Given the description of an element on the screen output the (x, y) to click on. 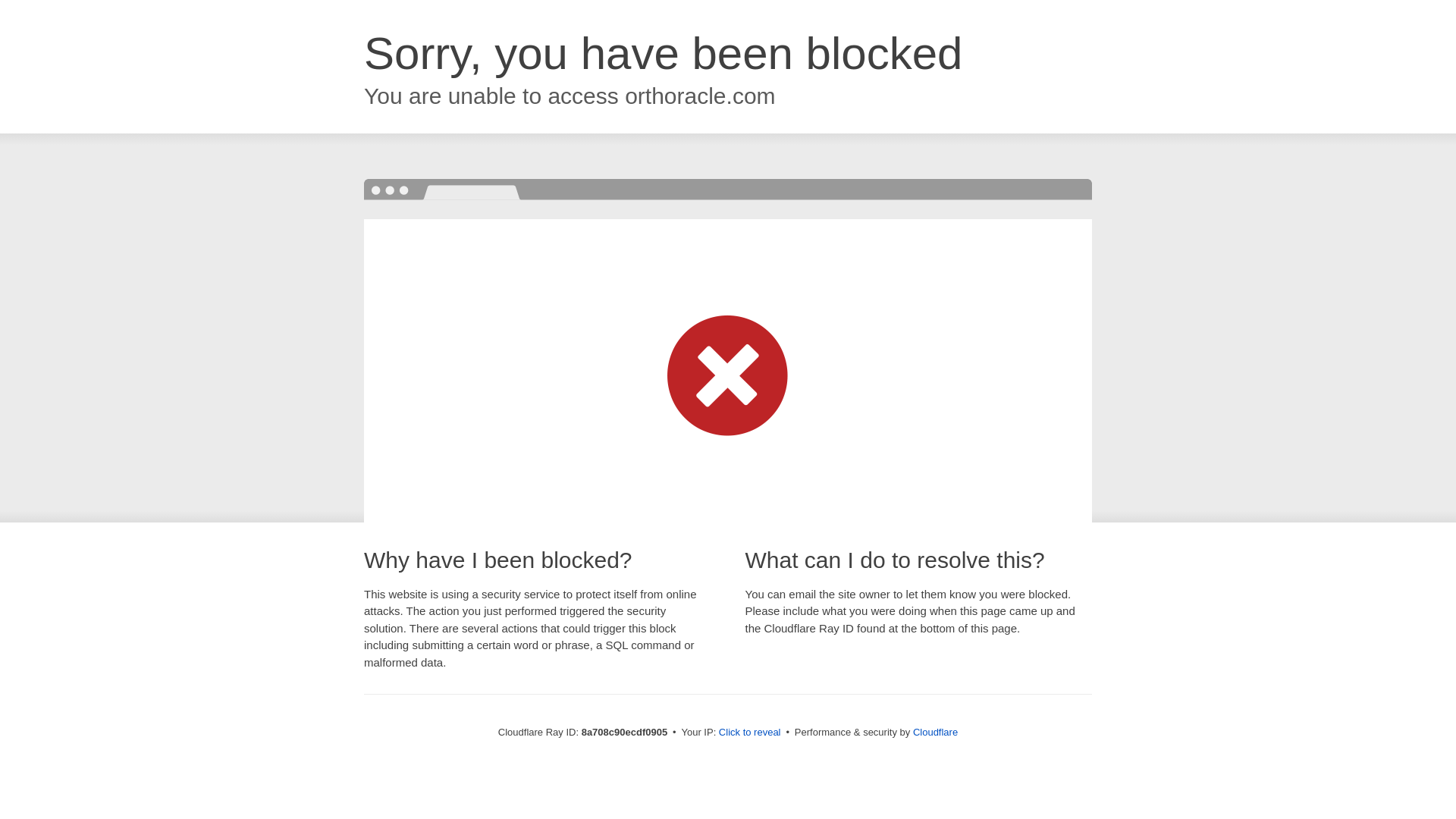
Click to reveal (749, 732)
Cloudflare (935, 731)
